Given the description of an element on the screen output the (x, y) to click on. 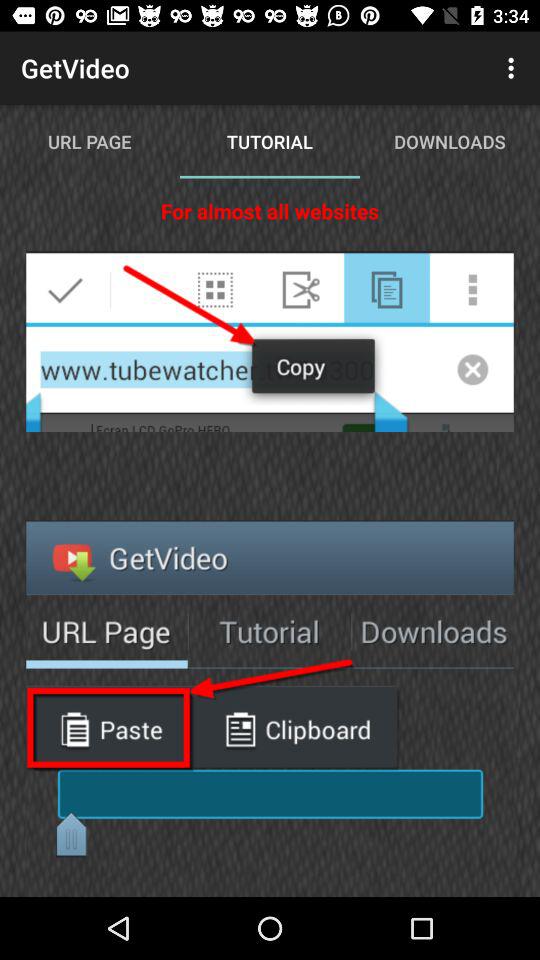
select the item to the right of the tutorial app (513, 67)
